Given the description of an element on the screen output the (x, y) to click on. 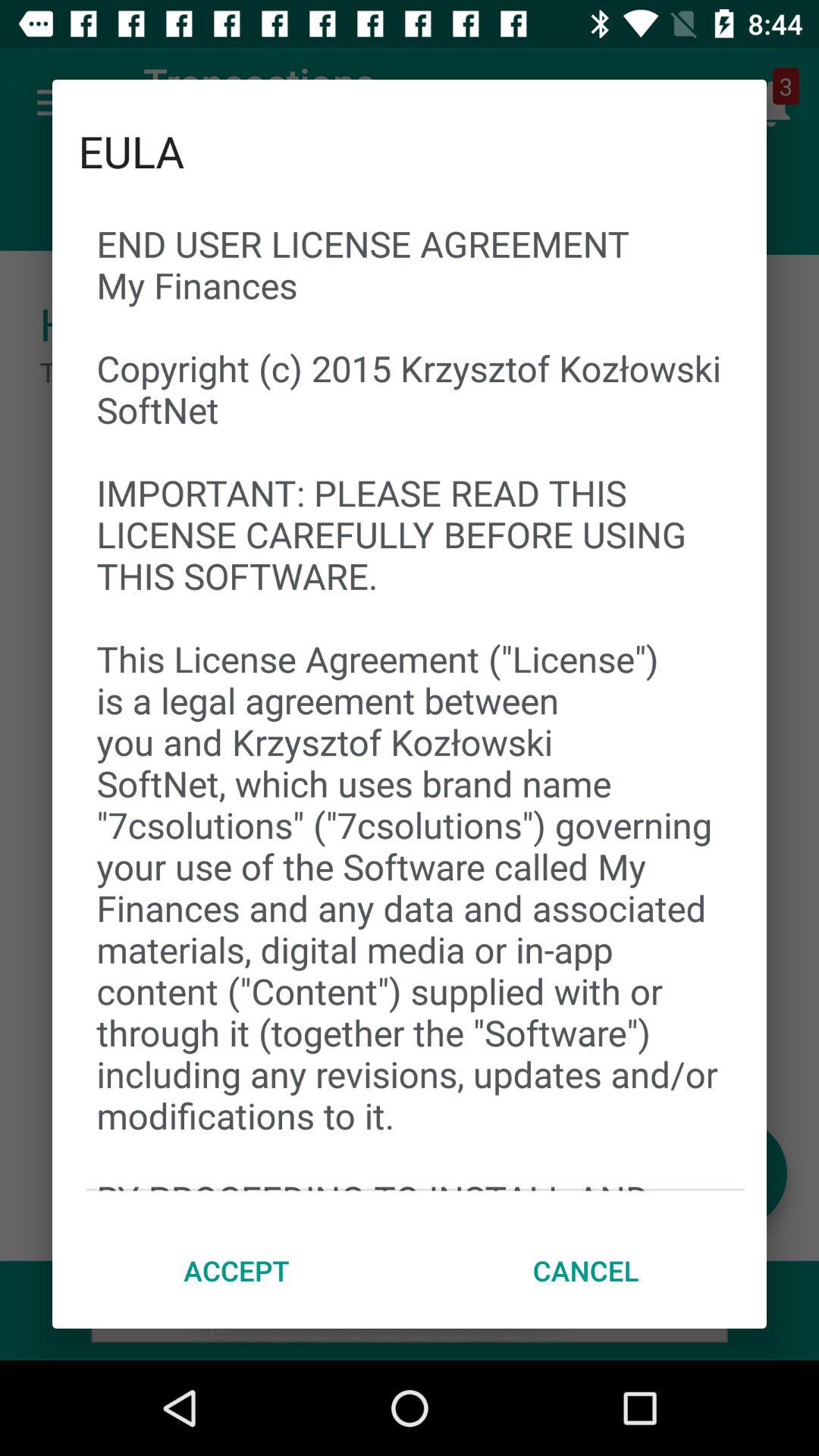
turn on the item next to cancel icon (236, 1270)
